Given the description of an element on the screen output the (x, y) to click on. 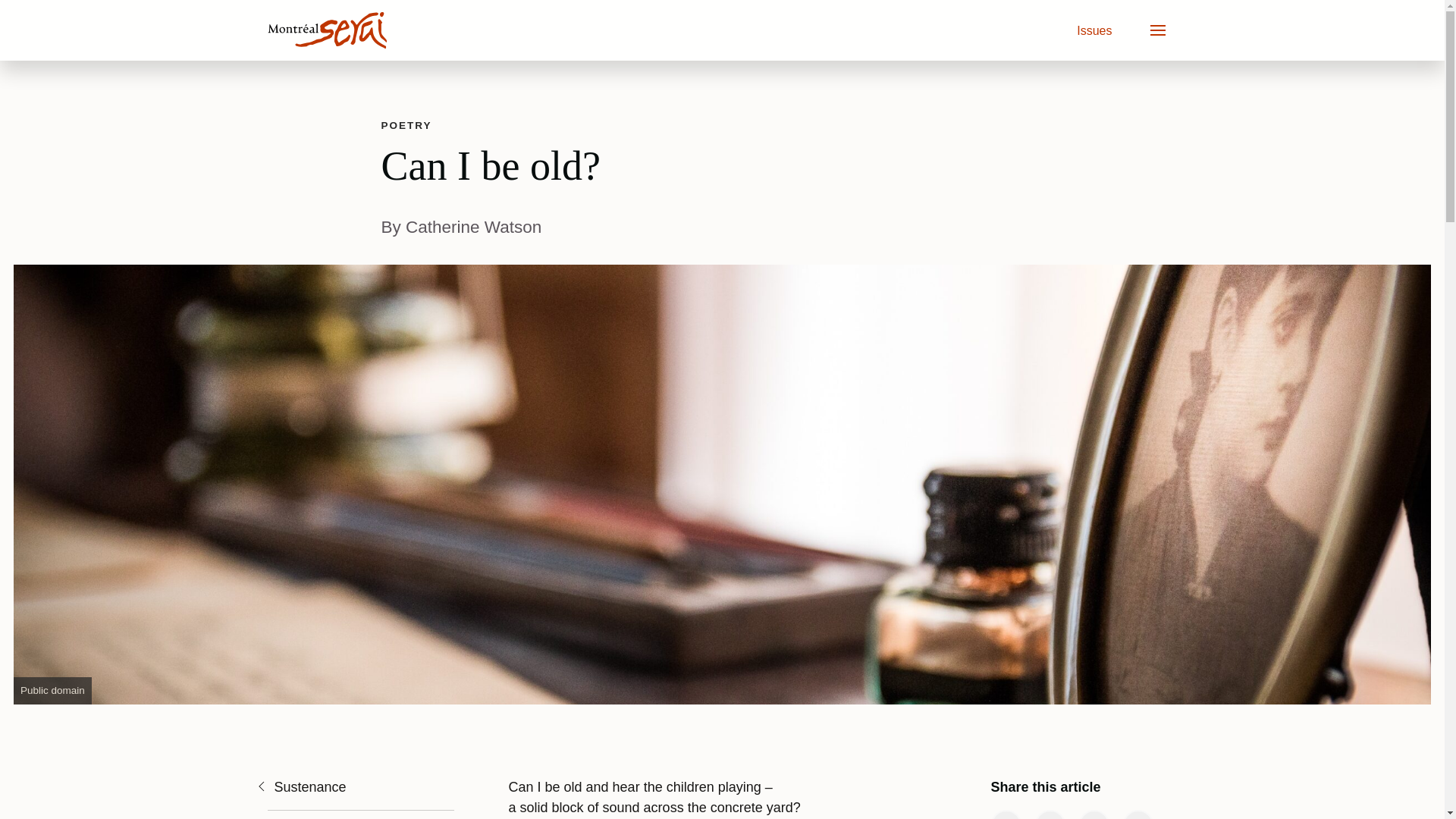
Issues (1093, 30)
Sustenance (299, 787)
Layout (405, 125)
Sustenance (299, 787)
POETRY (405, 125)
